Given the description of an element on the screen output the (x, y) to click on. 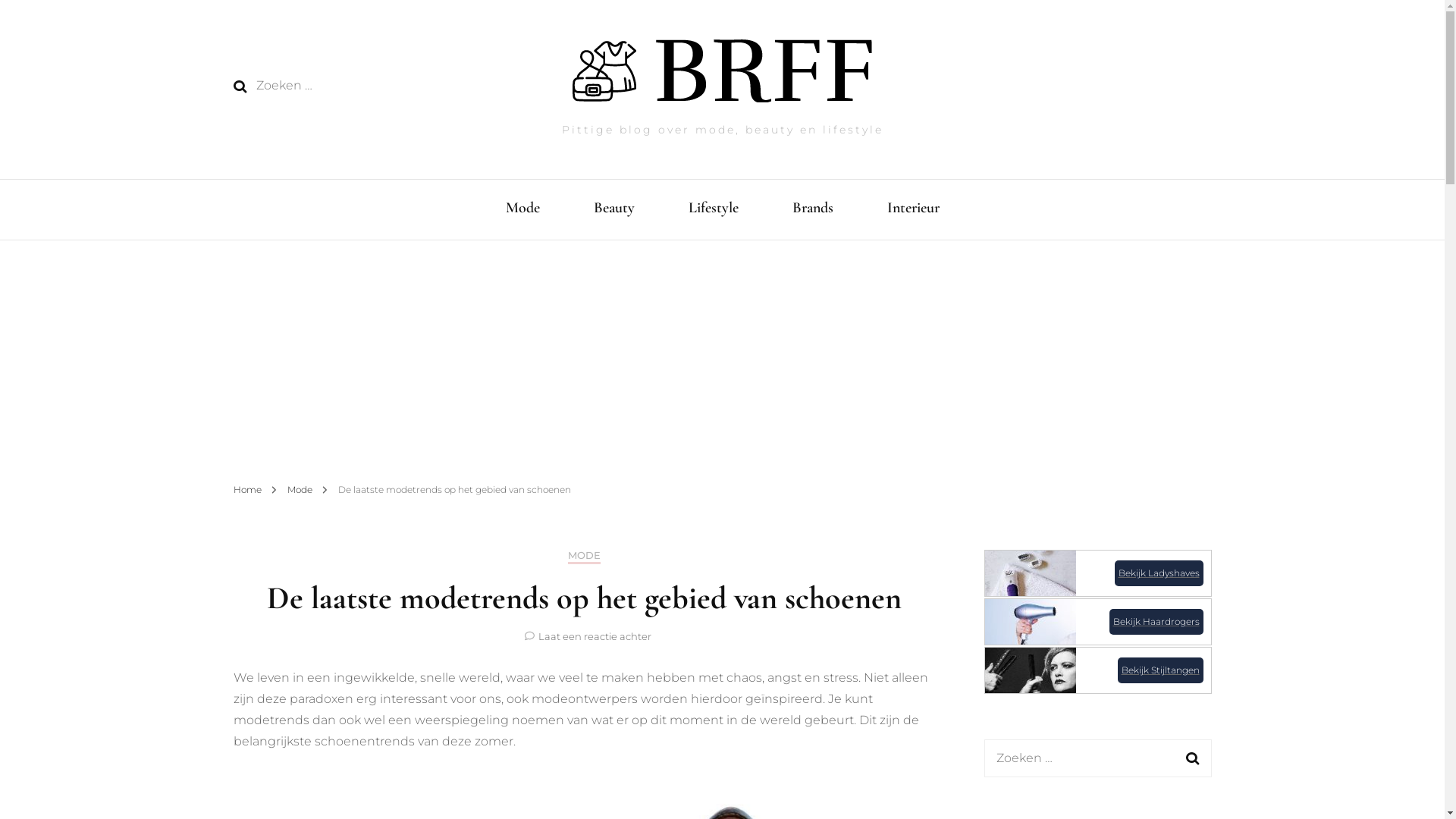
Bekijk Ladyshaves Element type: text (1097, 573)
Mode Element type: text (299, 489)
Home Element type: text (247, 489)
MODE Element type: text (583, 556)
Bekijk Haardrogers Element type: text (1097, 621)
Lifestyle Element type: text (713, 209)
De laatste modetrends op het gebied van schoenen Element type: text (454, 489)
Beauty Element type: text (613, 209)
Zoeken Element type: text (240, 86)
Zoeken Element type: text (1192, 758)
Advertisement Element type: hover (721, 353)
Interieur Element type: text (913, 209)
Brands Element type: text (811, 209)
Bekijk Stijltangen Element type: text (1097, 670)
Mode Element type: text (522, 209)
